Given the description of an element on the screen output the (x, y) to click on. 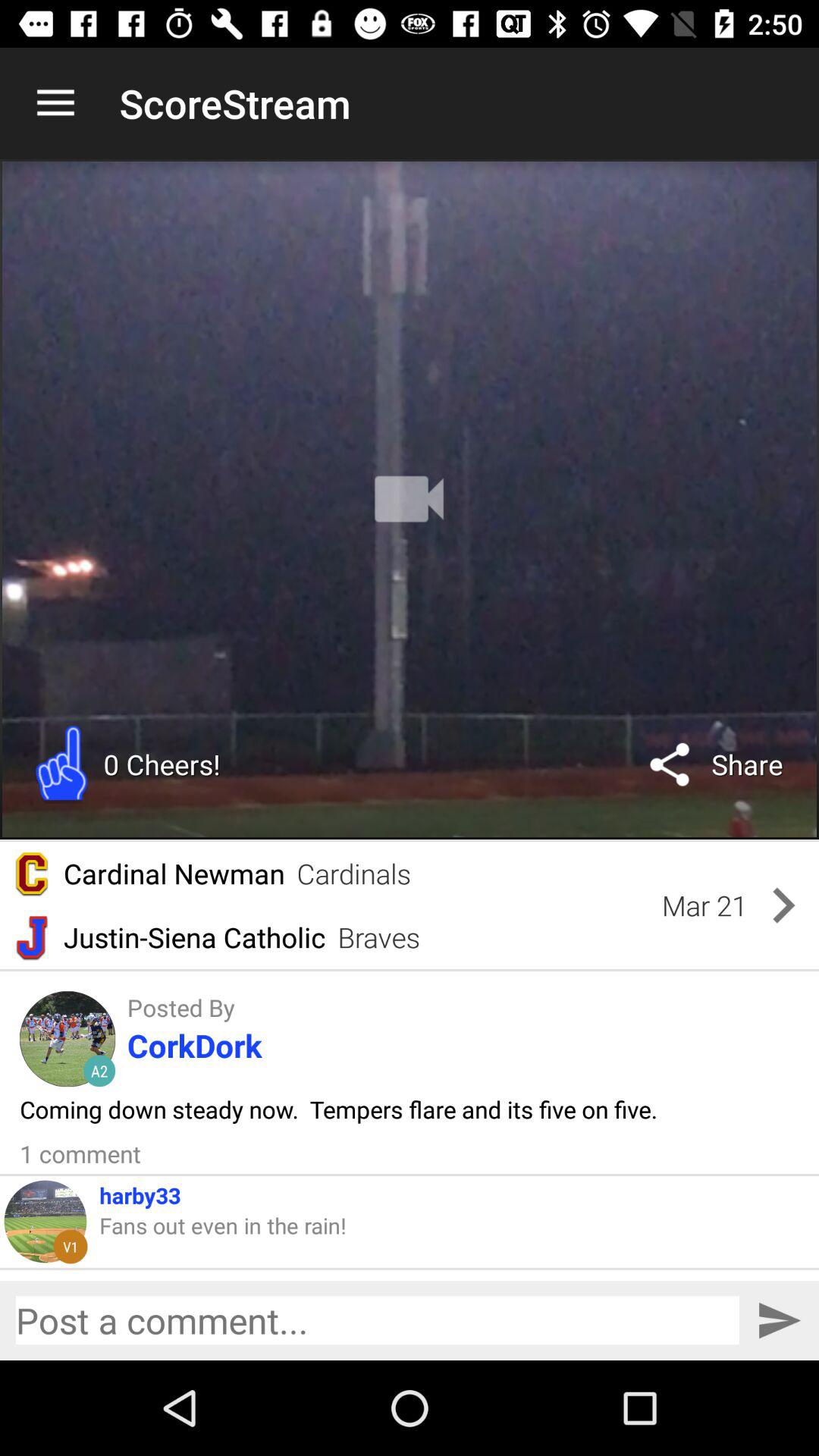
select mar 21 item (704, 905)
